Given the description of an element on the screen output the (x, y) to click on. 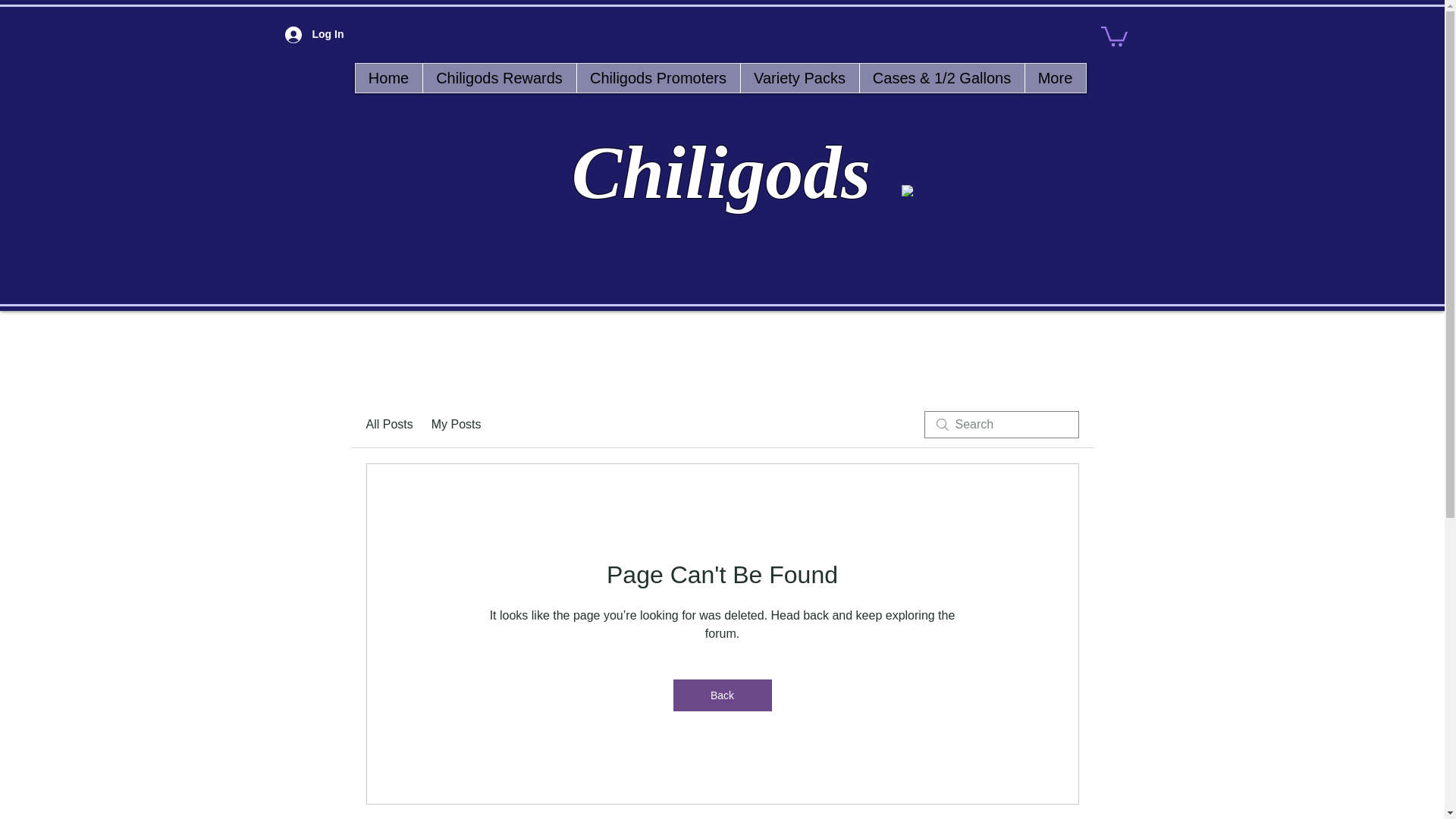
Chiligods Rewards (498, 77)
Home (388, 77)
Chiligods Promoters (657, 77)
Back (721, 695)
All Posts (388, 424)
My Posts (455, 424)
Variety Packs (799, 77)
Log In (291, 34)
